Given the description of an element on the screen output the (x, y) to click on. 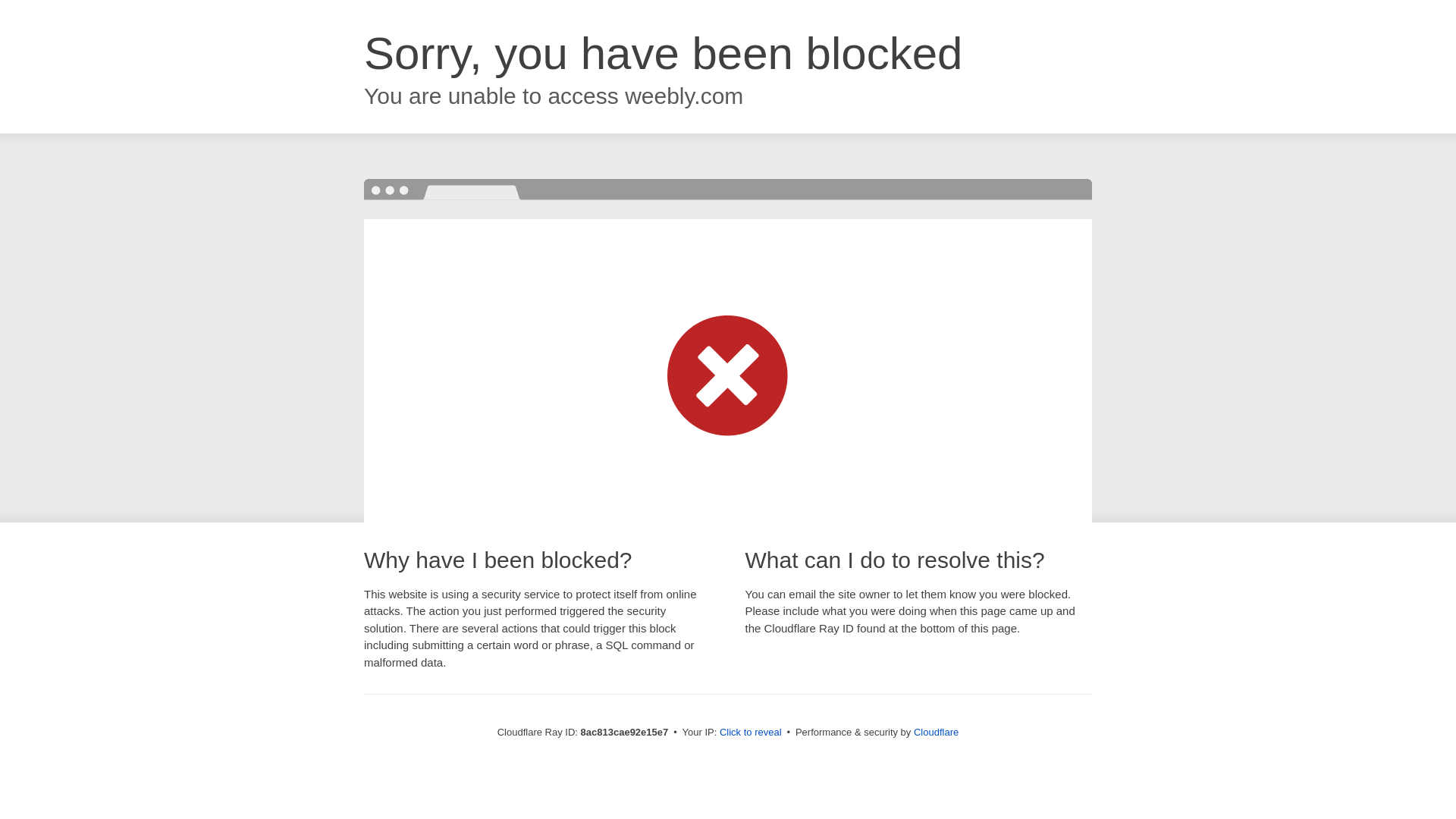
Click to reveal (750, 732)
Cloudflare (936, 731)
